Given the description of an element on the screen output the (x, y) to click on. 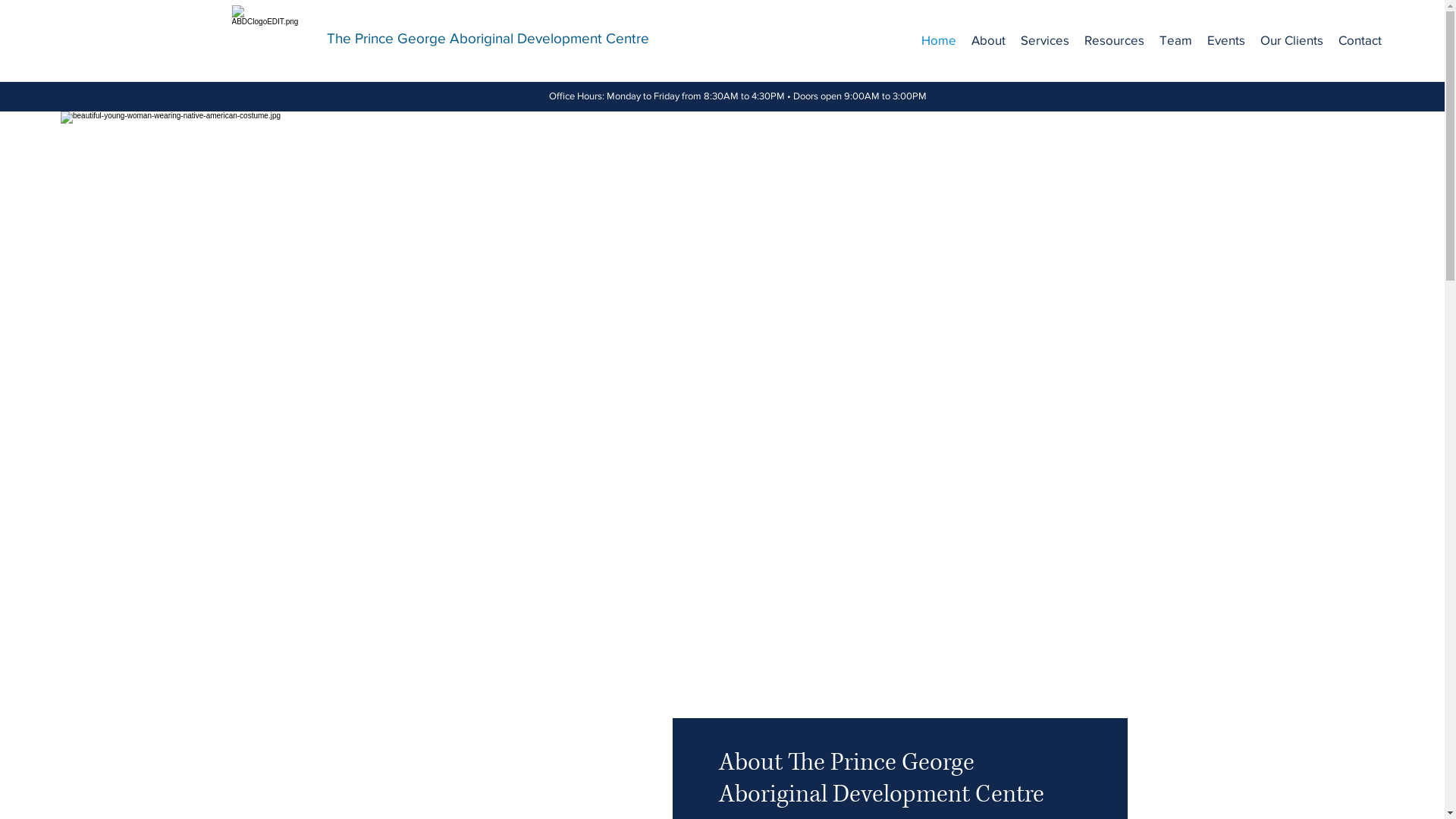
Team Element type: text (1175, 39)
The Prince George Aboriginal Development Centre Element type: text (487, 38)
Services Element type: text (1044, 39)
Contact Element type: text (1359, 39)
Resources Element type: text (1113, 39)
About Element type: text (988, 39)
Our Clients Element type: text (1291, 39)
Events Element type: text (1225, 39)
Home Element type: text (938, 39)
